Given the description of an element on the screen output the (x, y) to click on. 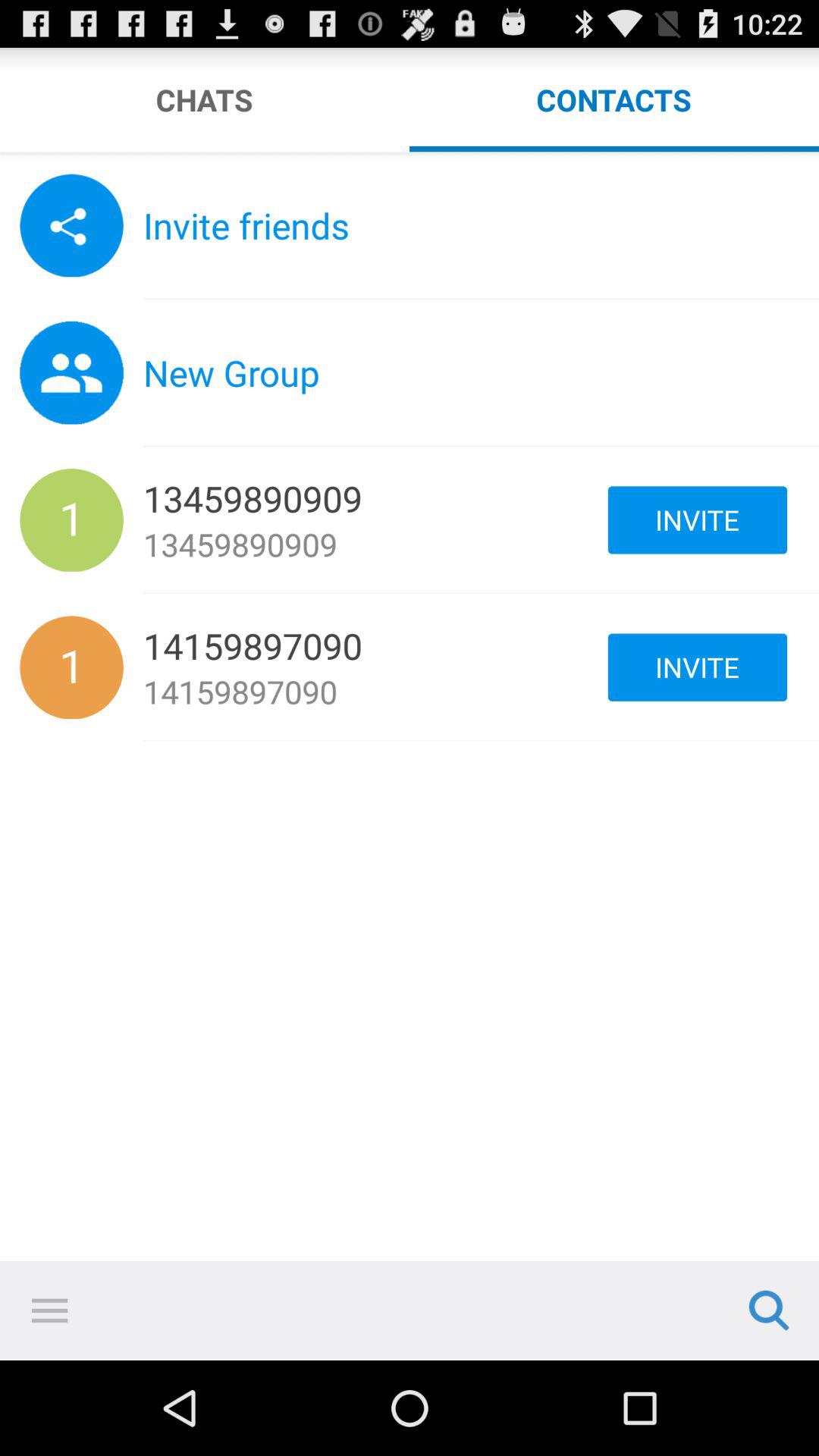
chose to sort by the chat or the contact (409, 155)
